Given the description of an element on the screen output the (x, y) to click on. 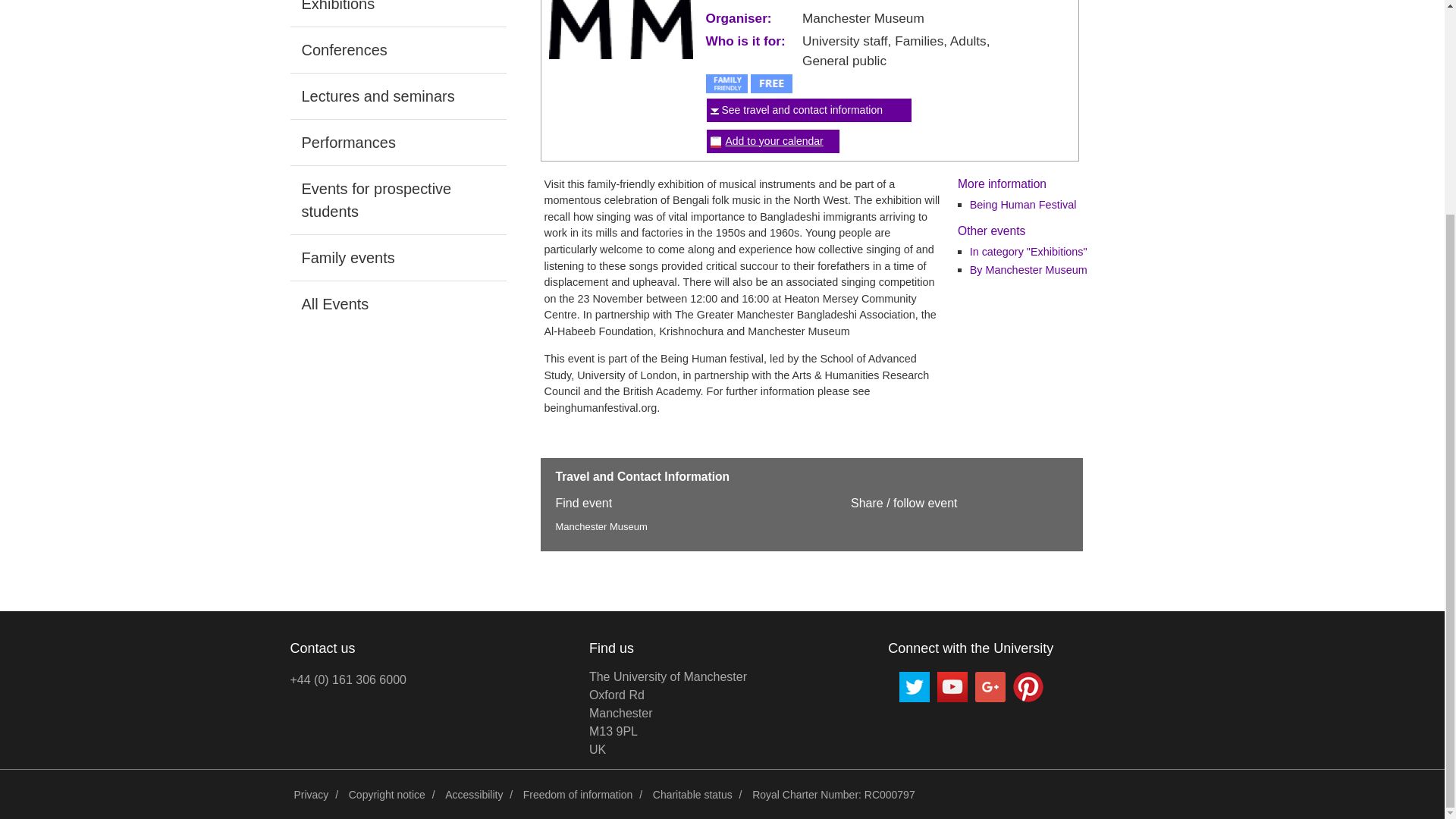
Accessibility (473, 794)
Being Human Festival (1023, 204)
Lectures and seminars (397, 95)
In category "Exhibitions" (1028, 251)
Add to your calendar (773, 140)
Charitable status (692, 794)
Exhibitions (397, 13)
Privacy (310, 794)
Download iCal file (667, 712)
Events for prospective students (773, 140)
Conferences (397, 200)
Copyright notice (397, 49)
Freedom of information (387, 794)
By Manchester Museum (578, 794)
